Given the description of an element on the screen output the (x, y) to click on. 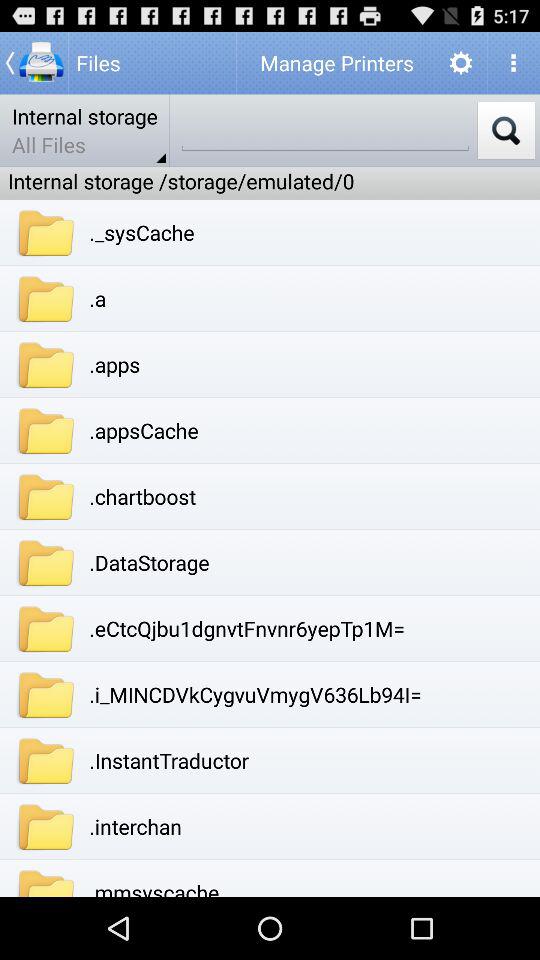
enter file name (325, 130)
